Given the description of an element on the screen output the (x, y) to click on. 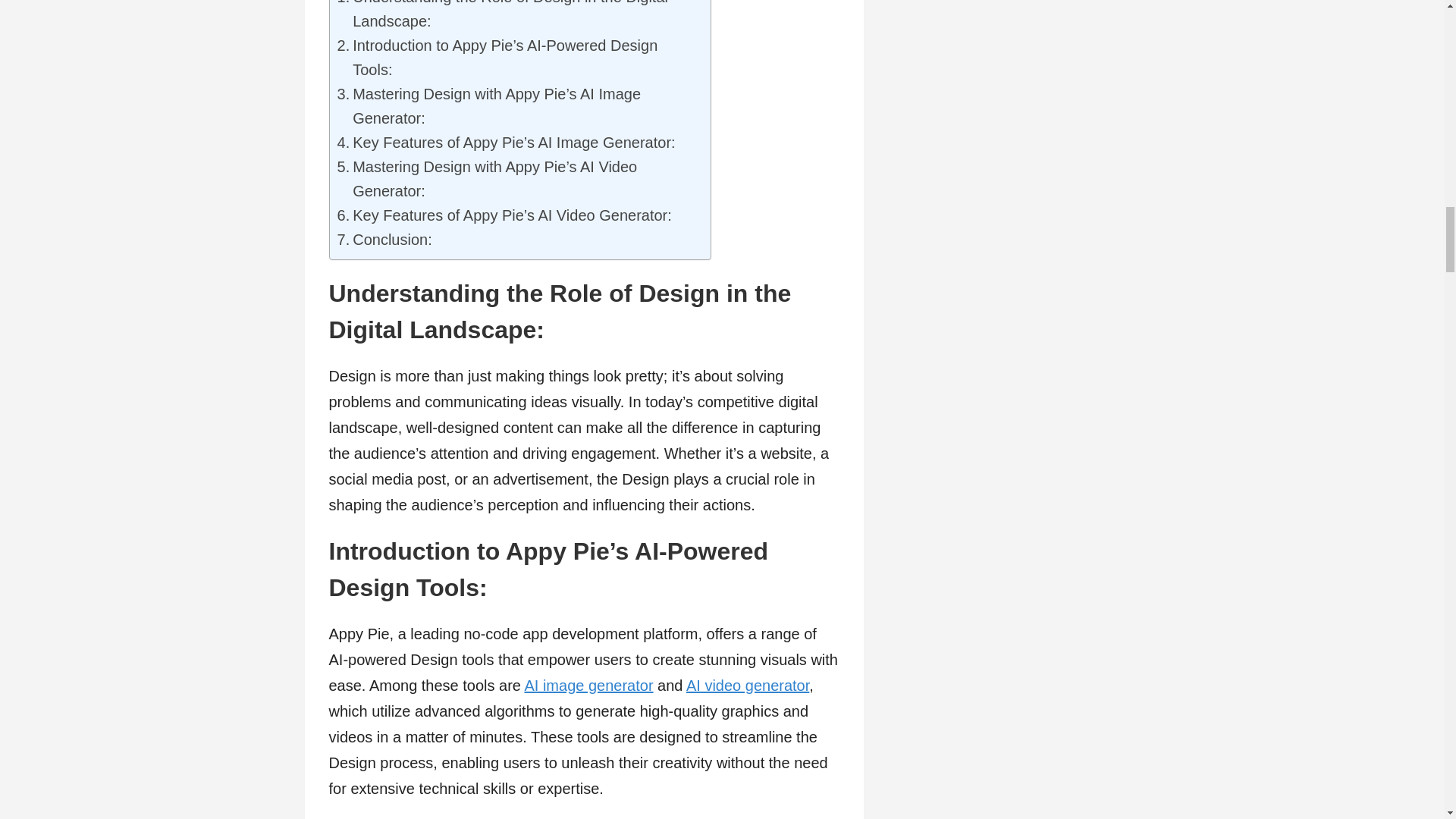
Understanding the Role of Design in the Digital Landscape: (515, 16)
Conclusion: (383, 239)
